Given the description of an element on the screen output the (x, y) to click on. 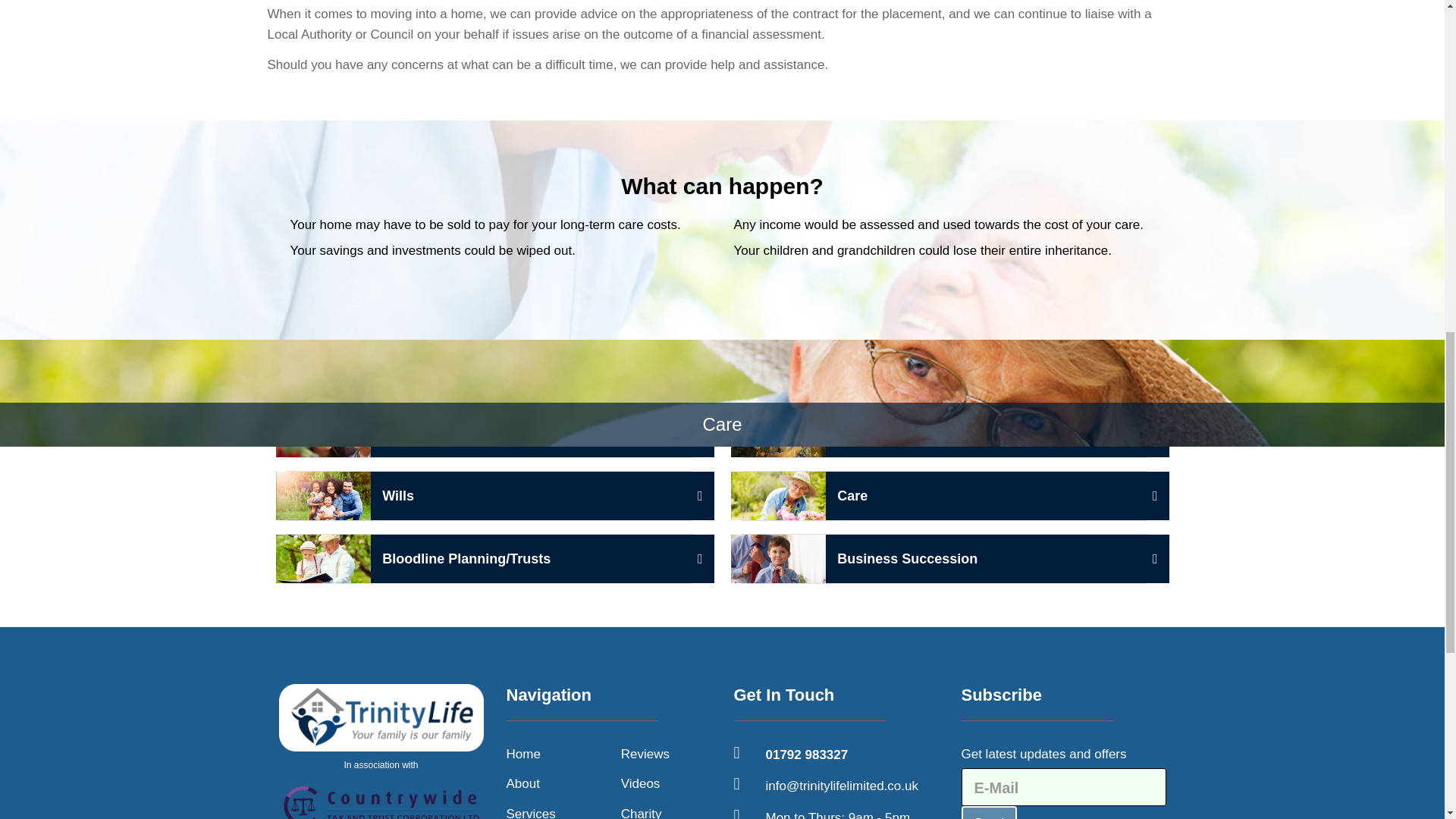
Home (523, 753)
Wills (489, 495)
Lasting Powers of Attorney (381, 751)
About (489, 432)
Care (523, 783)
Services (944, 495)
Probate (531, 811)
Business Succession (944, 432)
